Given the description of an element on the screen output the (x, y) to click on. 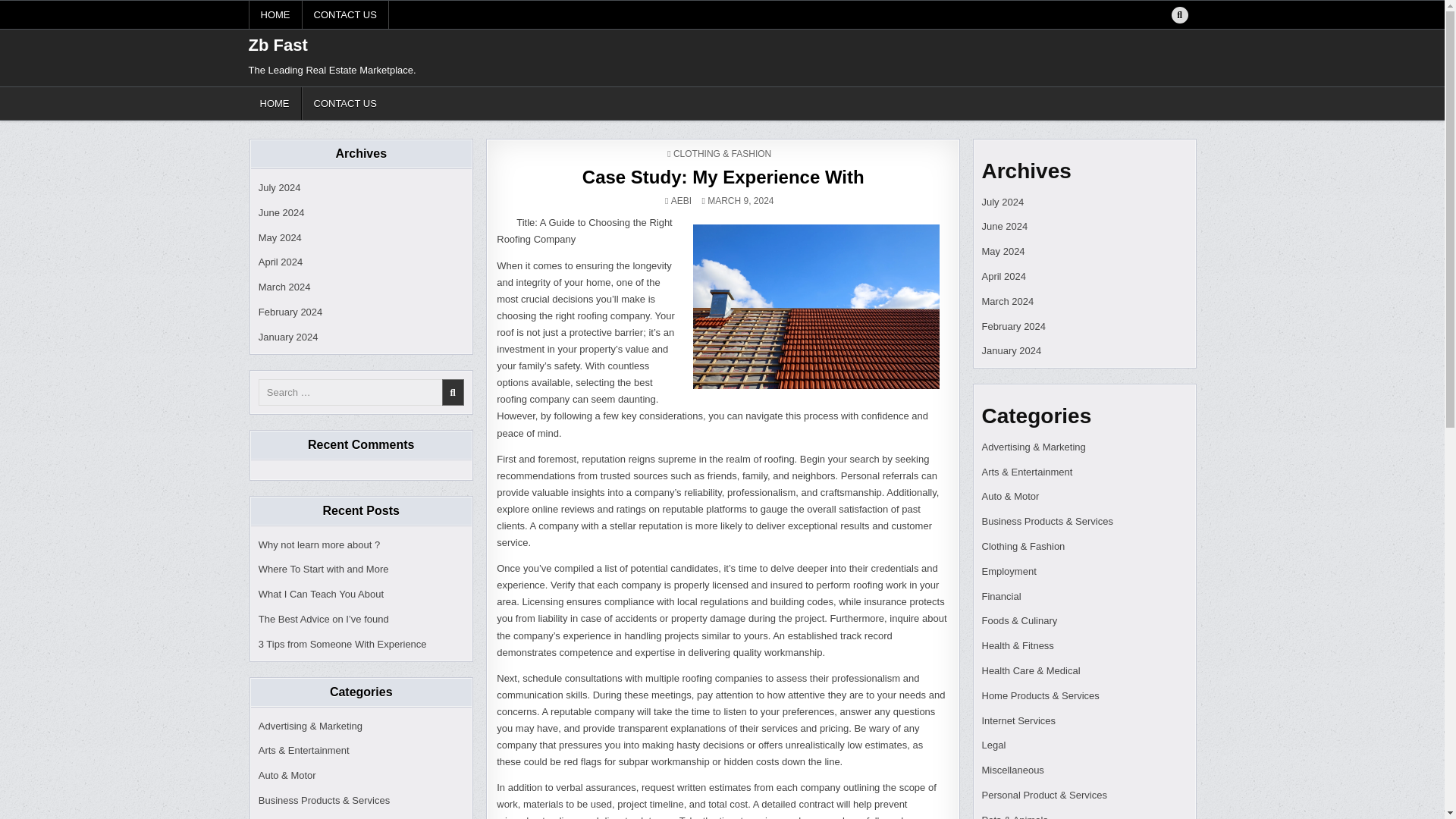
February 2024 (291, 311)
Zb Fast (277, 45)
Where To Start with and More (323, 568)
March 2024 (285, 286)
May 2024 (280, 237)
HOME (275, 14)
CONTACT US (344, 14)
3 Tips from Someone With Experience (342, 644)
What I Can Teach You About (321, 593)
CONTACT US (344, 102)
Why not learn more about ? (319, 544)
July 2024 (280, 187)
HOME (274, 102)
June 2024 (281, 212)
Search (1179, 14)
